Given the description of an element on the screen output the (x, y) to click on. 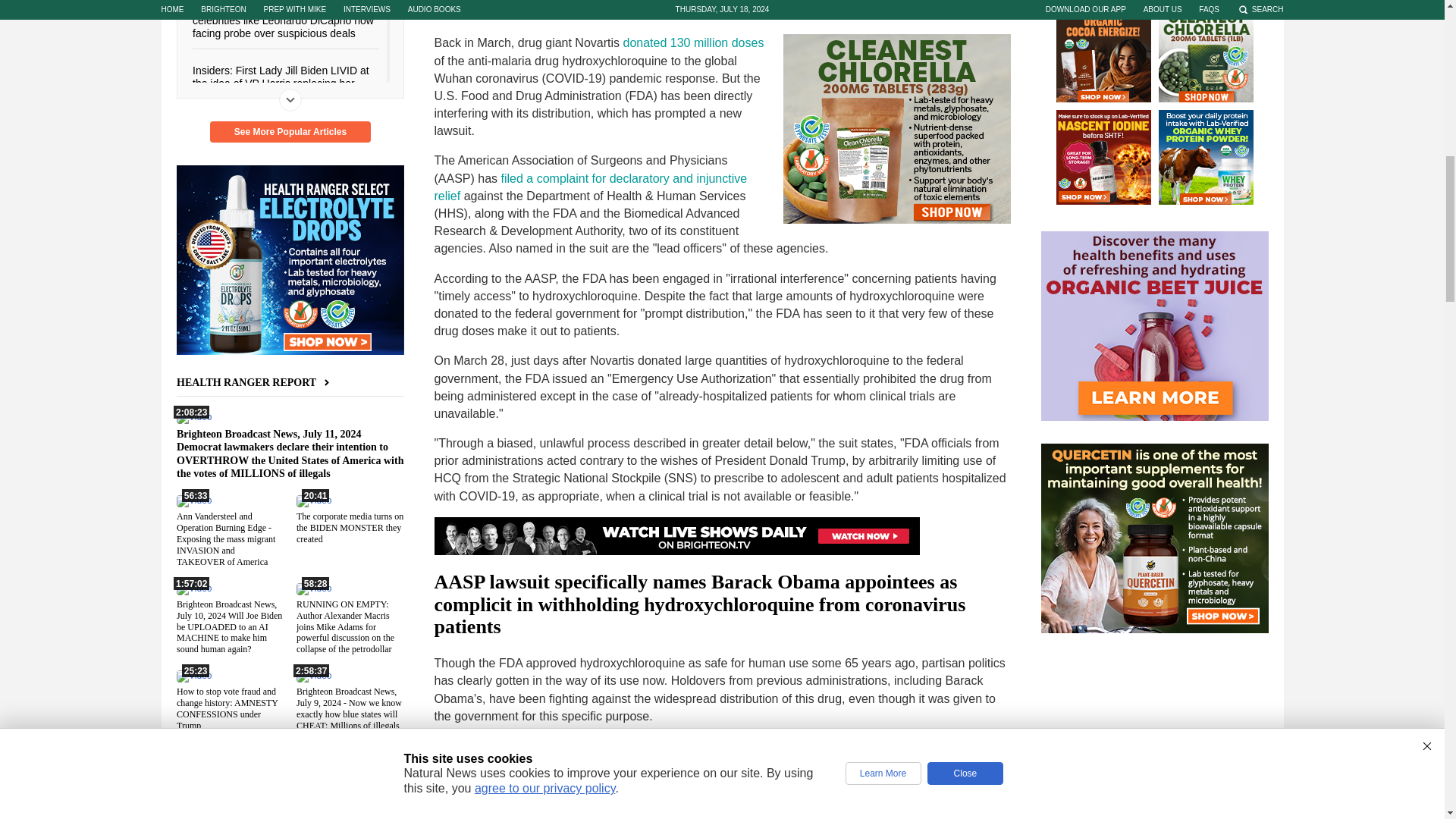
Scroll Down (290, 99)
